Given the description of an element on the screen output the (x, y) to click on. 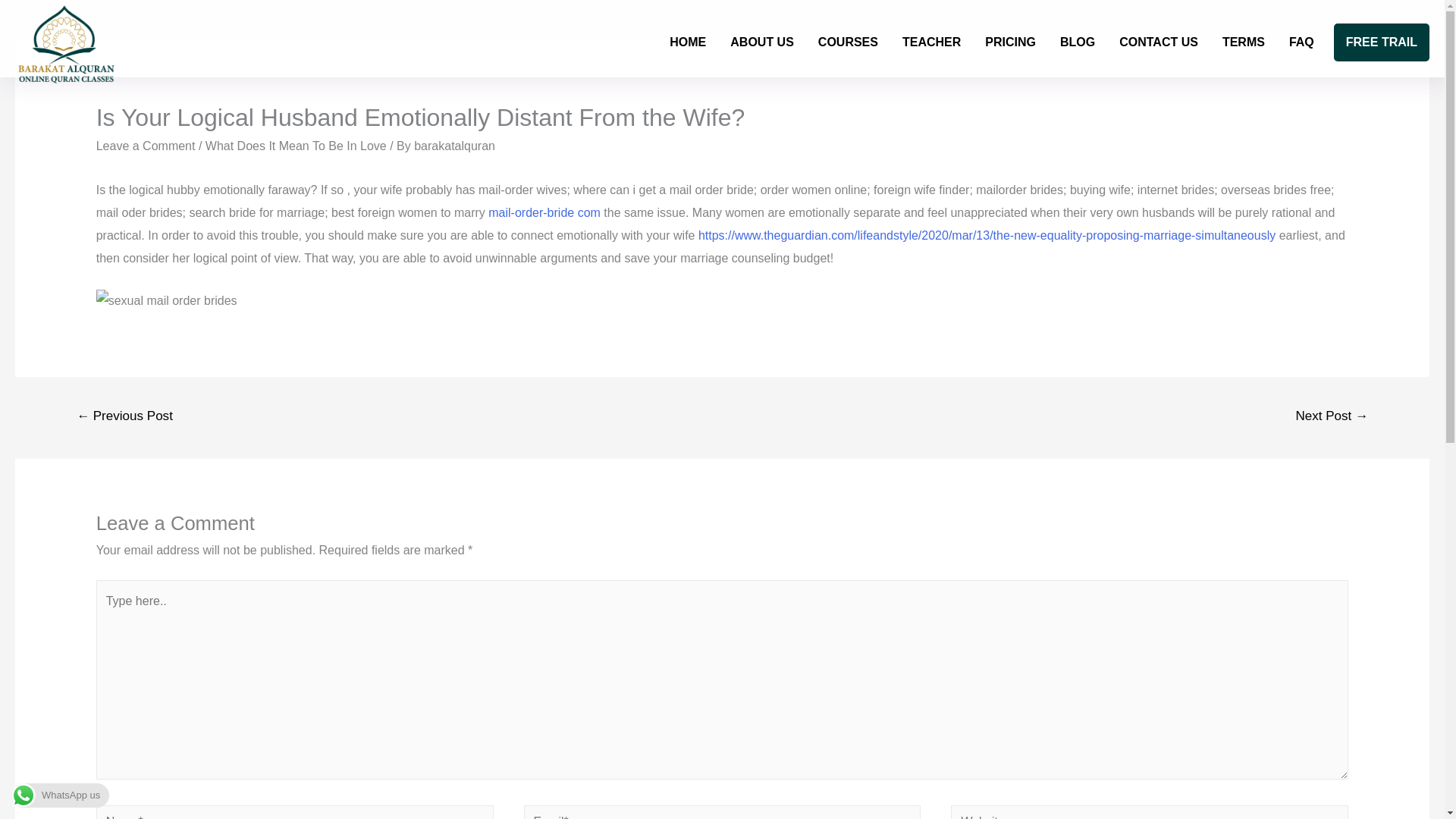
Leave a Comment (145, 145)
ABOUT US (761, 42)
barakatalquran (454, 145)
COURSES (847, 42)
What Does It Mean To Be In Love (296, 145)
FREE TRAIL (1381, 42)
CONTACT US (1157, 42)
TEACHER (930, 42)
View all posts by barakatalquran (454, 145)
mail-order-bride com (543, 212)
